Given the description of an element on the screen output the (x, y) to click on. 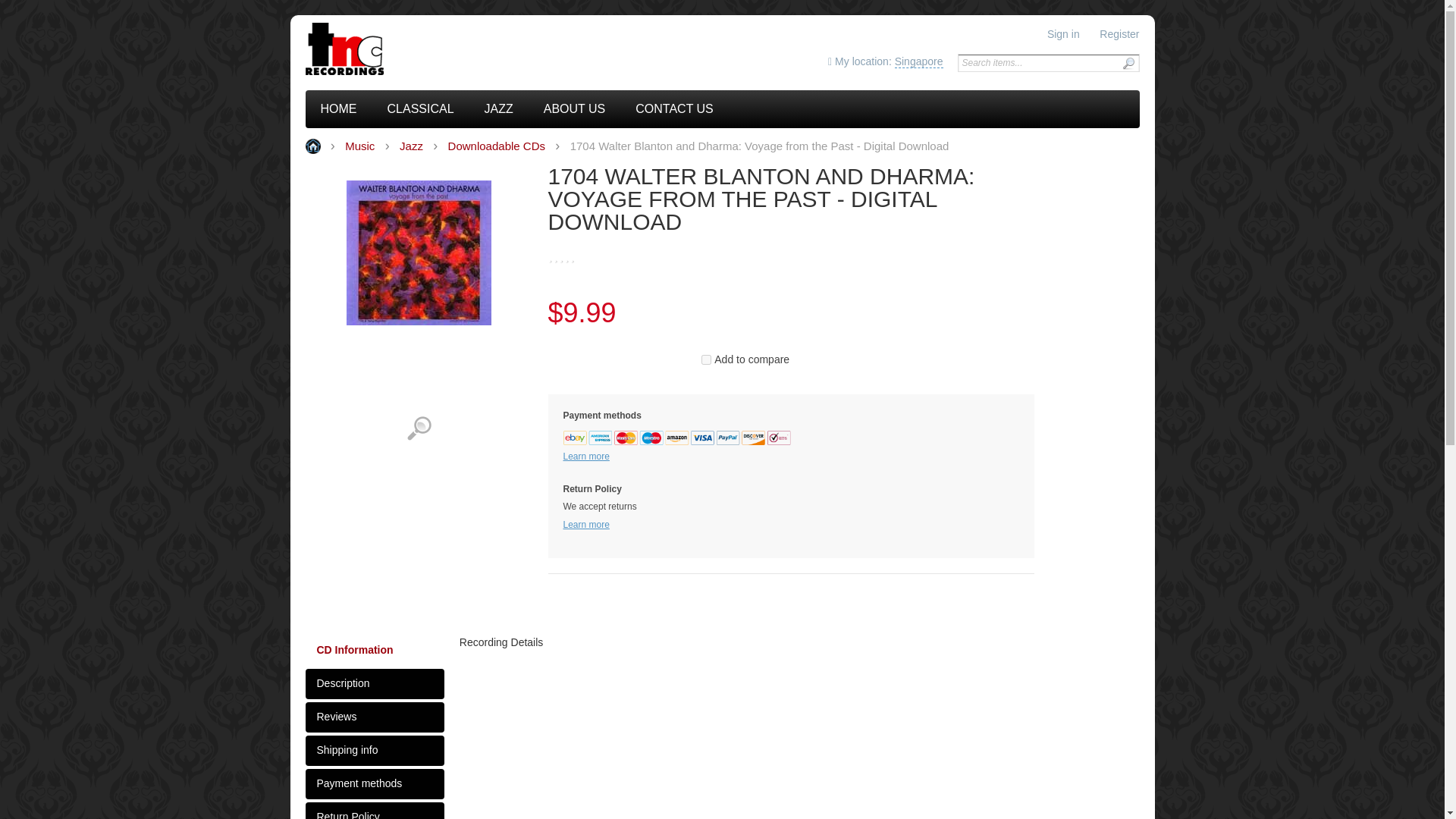
Sign in (1063, 33)
Home (408, 48)
on (706, 359)
My location: Singapore (884, 62)
Register (1118, 33)
